Given the description of an element on the screen output the (x, y) to click on. 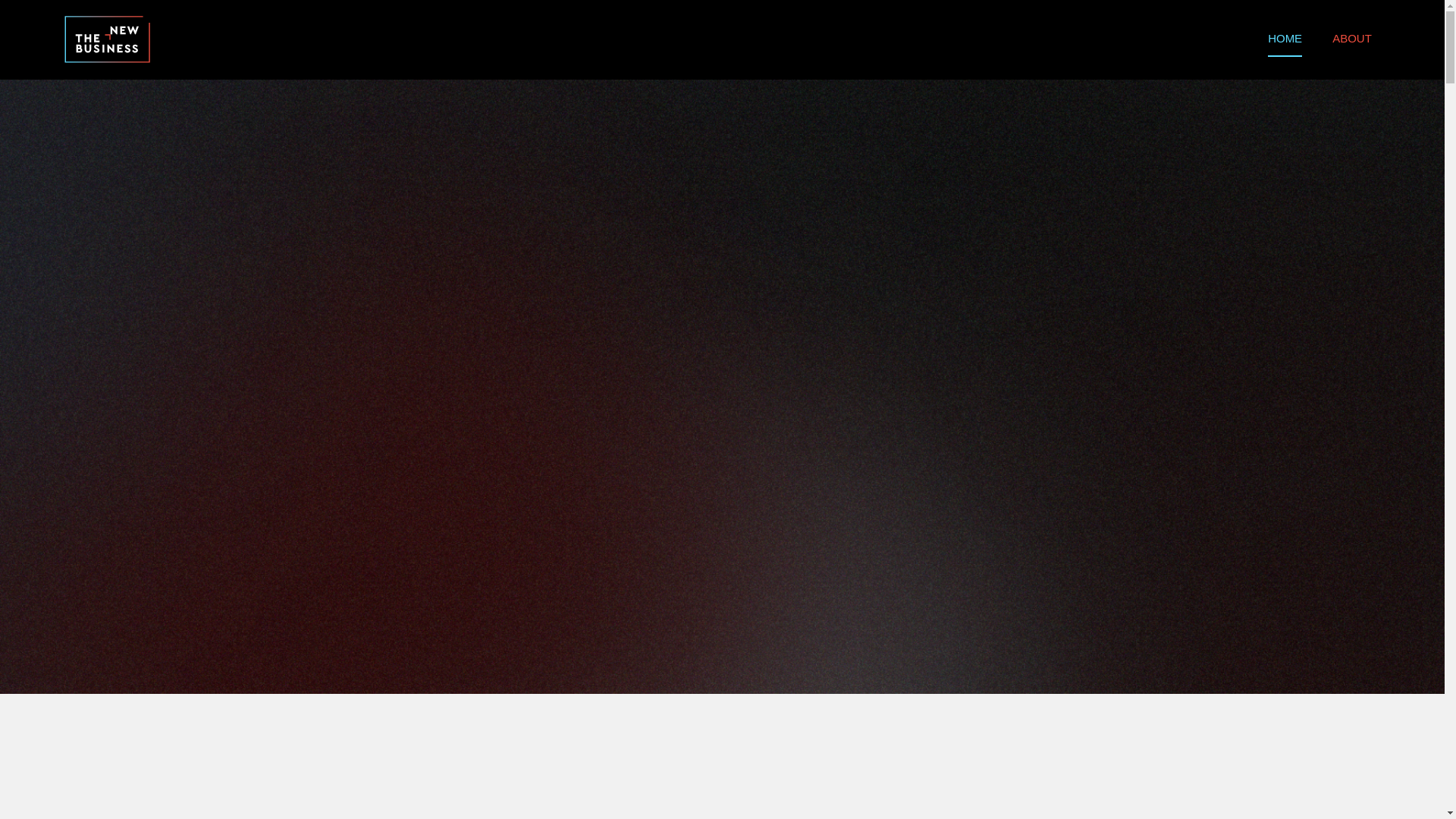
HOME Element type: text (1284, 35)
ABOUT Element type: text (1351, 35)
